Given the description of an element on the screen output the (x, y) to click on. 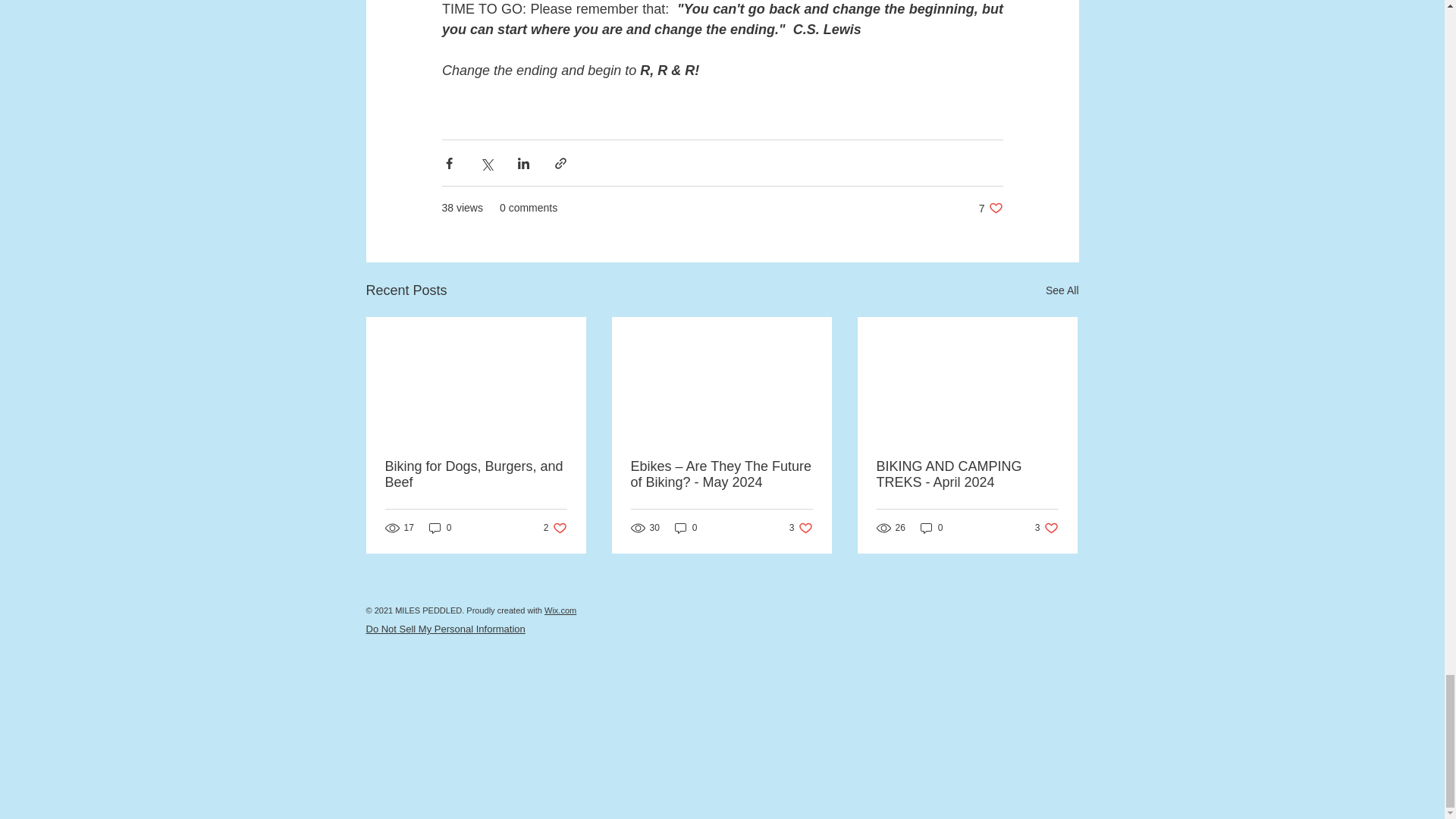
See All (1061, 291)
0 (931, 527)
Wix.com (560, 610)
Biking for Dogs, Burgers, and Beef (476, 474)
BIKING AND CAMPING TREKS - April 2024 (967, 474)
0 (555, 527)
0 (440, 527)
